Given the description of an element on the screen output the (x, y) to click on. 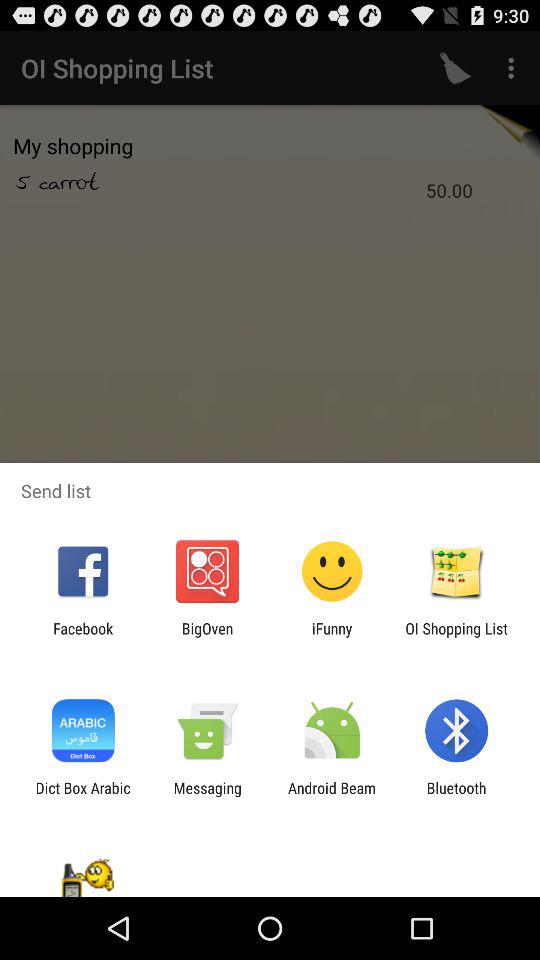
tap the ifunny item (332, 637)
